Given the description of an element on the screen output the (x, y) to click on. 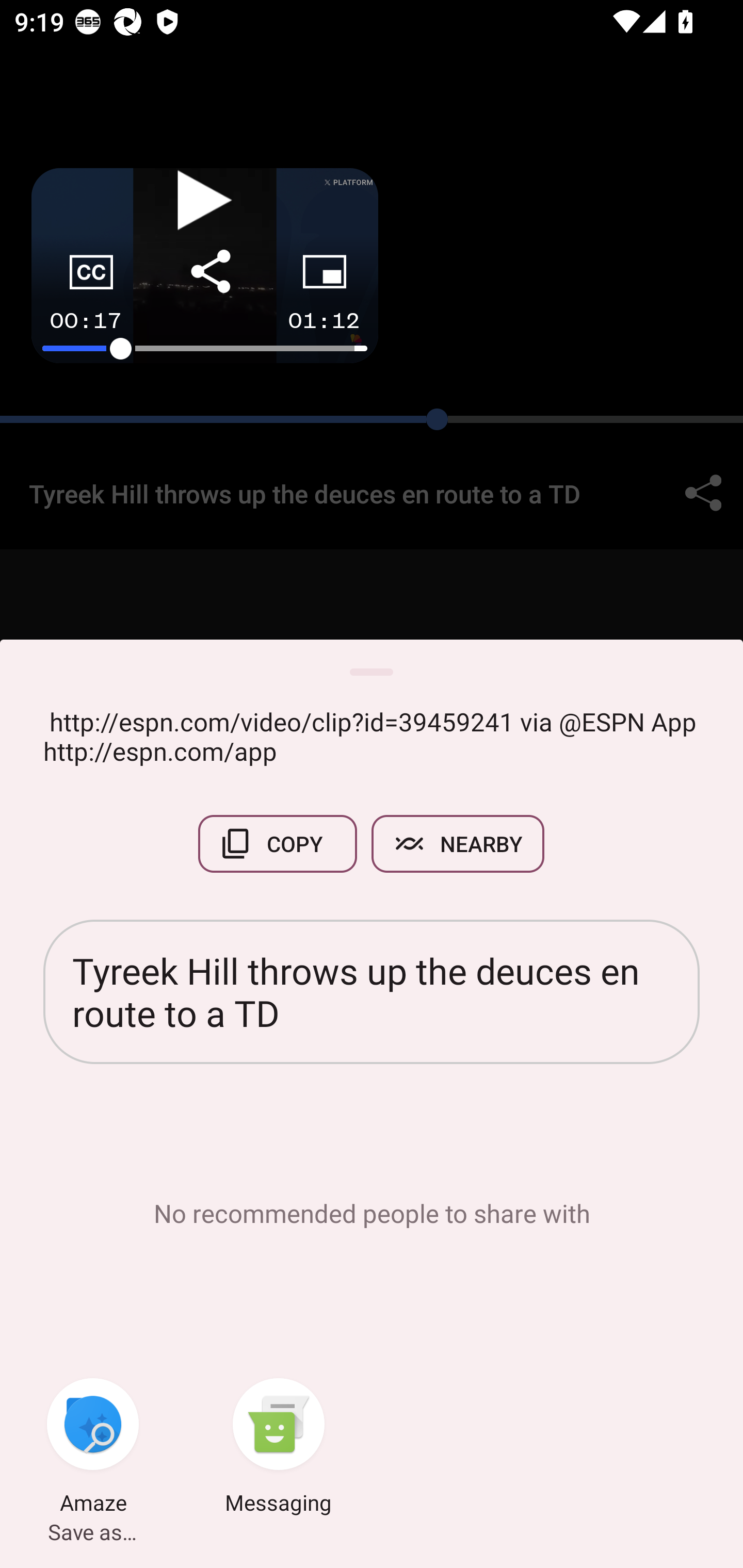
COPY (277, 844)
NEARBY (457, 844)
Amaze Save as… (92, 1448)
Messaging (278, 1448)
